Given the description of an element on the screen output the (x, y) to click on. 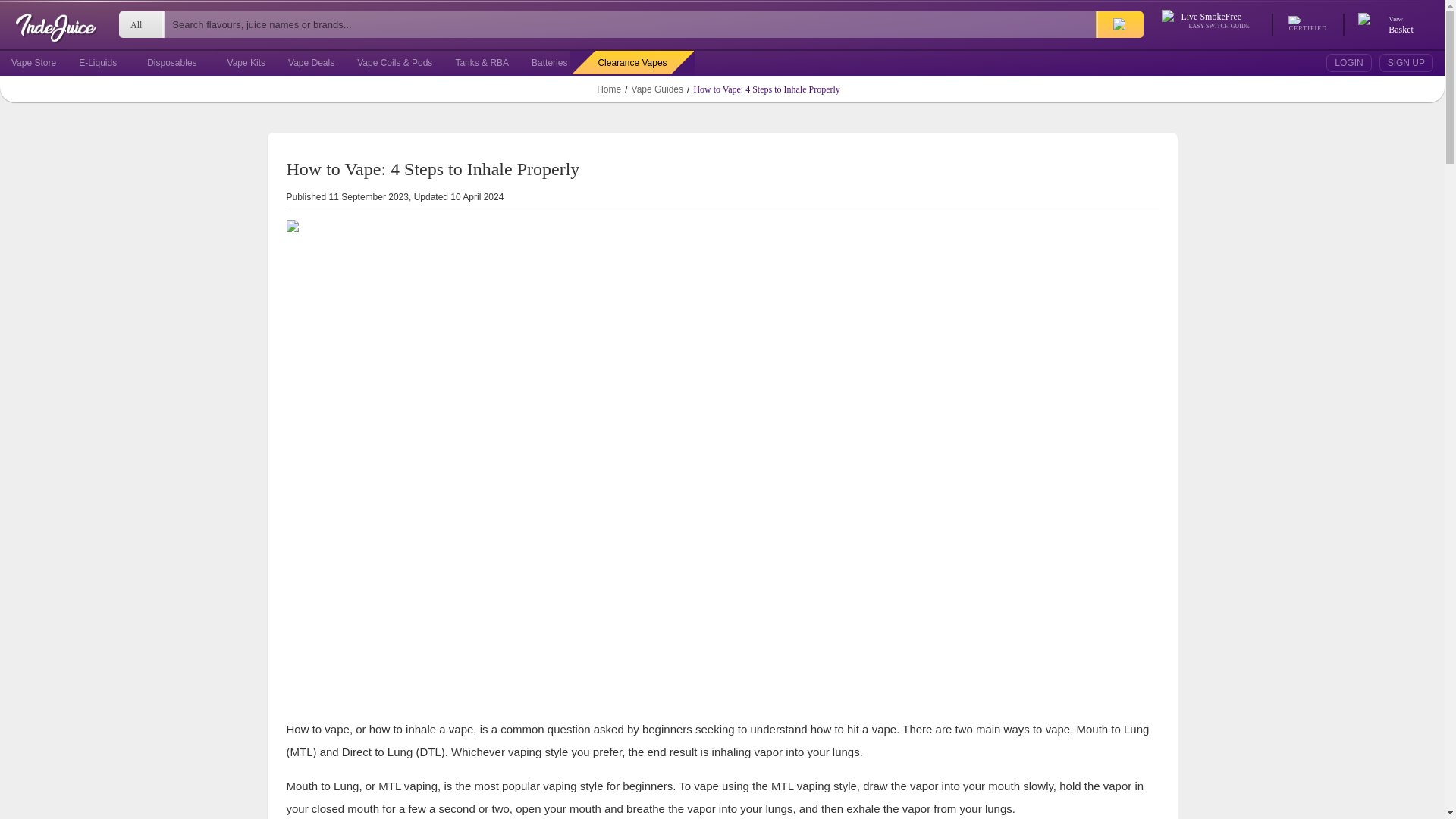
Disposables (171, 62)
E-Liquids (97, 62)
CERTIFIED (1307, 24)
Vape Store (1398, 24)
